Given the description of an element on the screen output the (x, y) to click on. 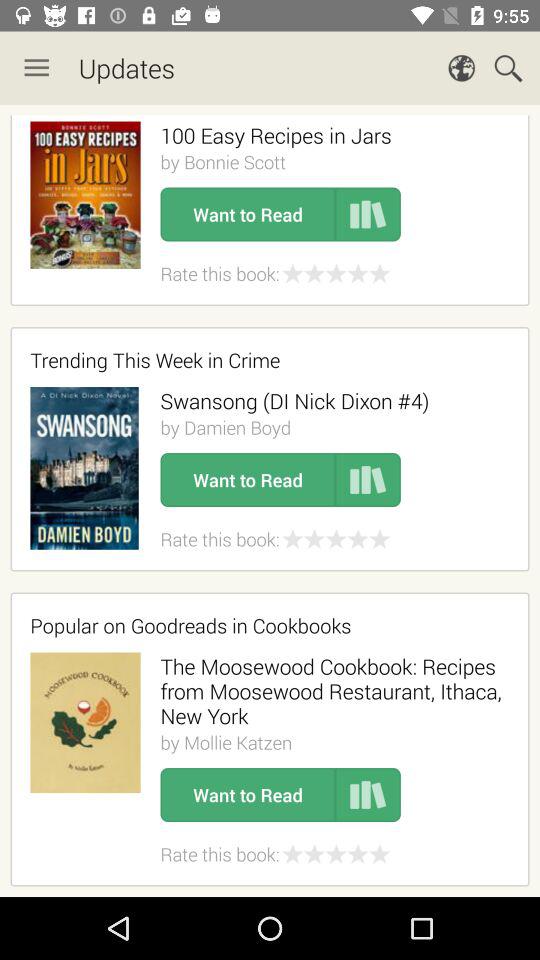
turn off the icon above the want to read (226, 742)
